Given the description of an element on the screen output the (x, y) to click on. 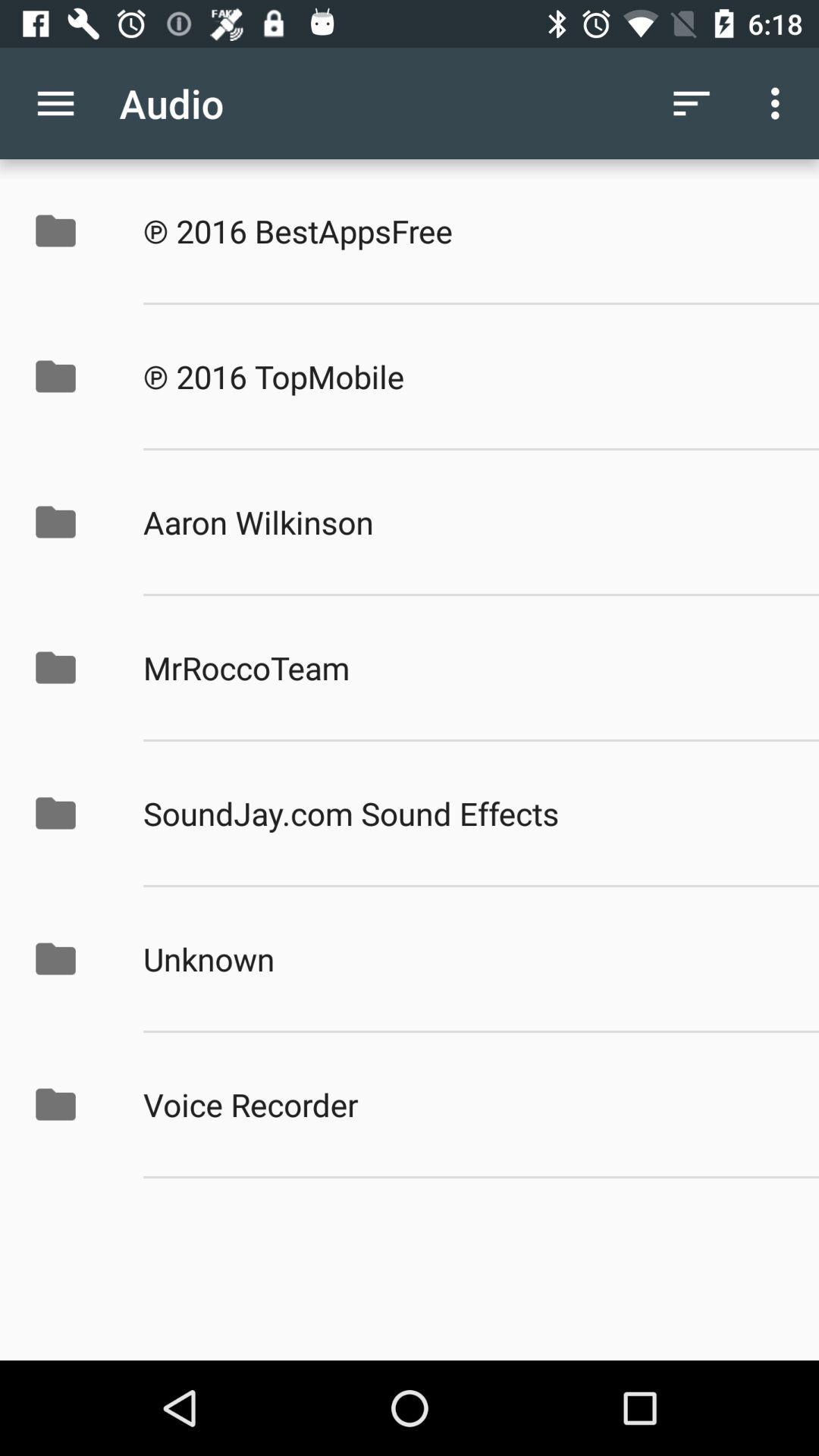
scroll until the mrroccoteam icon (465, 667)
